Given the description of an element on the screen output the (x, y) to click on. 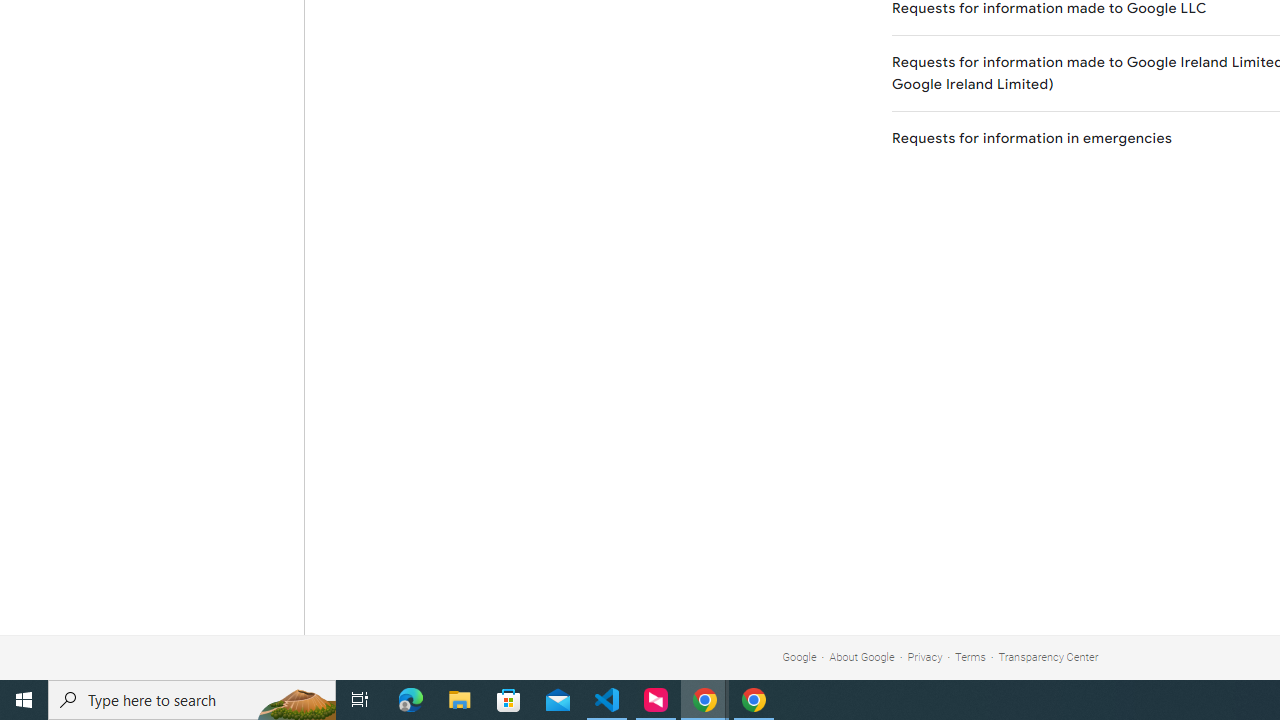
About Google (861, 656)
Transparency Center (1048, 656)
